Given the description of an element on the screen output the (x, y) to click on. 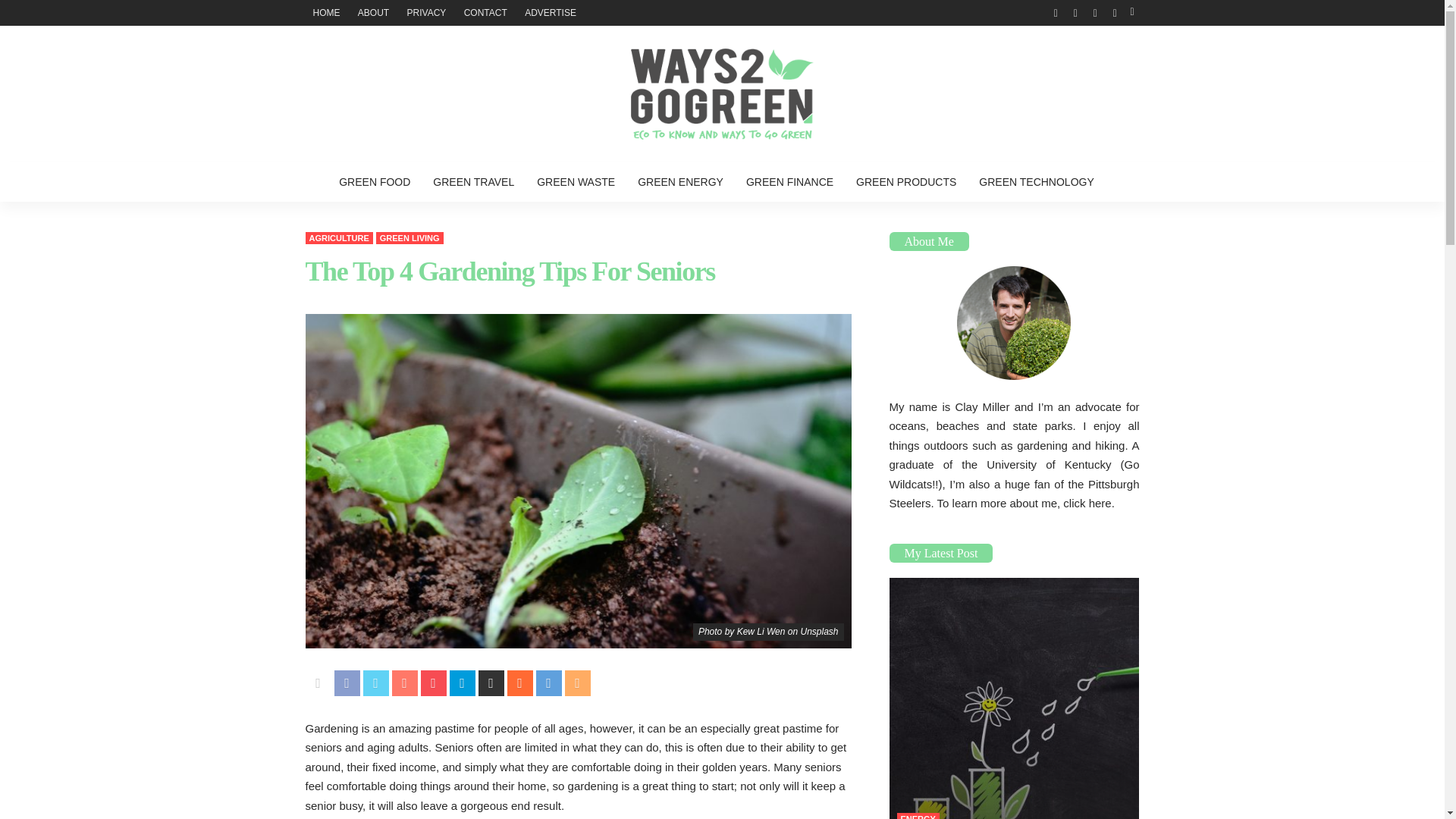
Kew Li Wen (761, 631)
ADVERTISE (549, 12)
green living (409, 237)
GREEN FINANCE (789, 181)
GREEN TECHNOLOGY (1036, 181)
PRIVACY (426, 12)
GREEN TRAVEL (473, 181)
CONTACT (486, 12)
agriculture (338, 237)
Ways2GoGreen (721, 93)
